Given the description of an element on the screen output the (x, y) to click on. 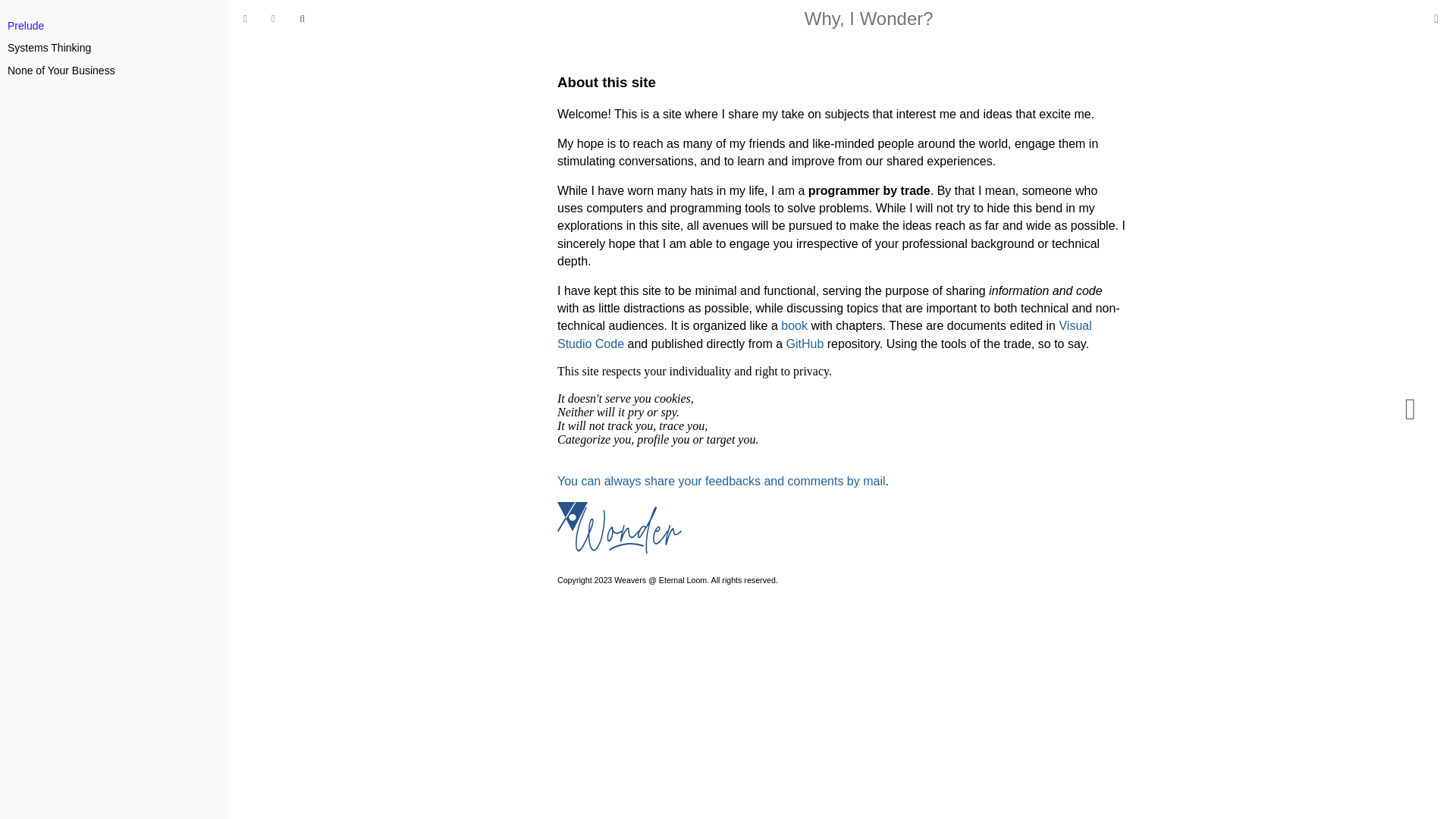
You can always share your feedbacks and comments by mail (721, 481)
None of Your Business (61, 70)
GitHub (805, 343)
Prelude (25, 26)
Visual Studio Code (824, 334)
About this site (606, 82)
book (794, 325)
Systems Thinking (48, 48)
Print this book (1436, 18)
